Given the description of an element on the screen output the (x, y) to click on. 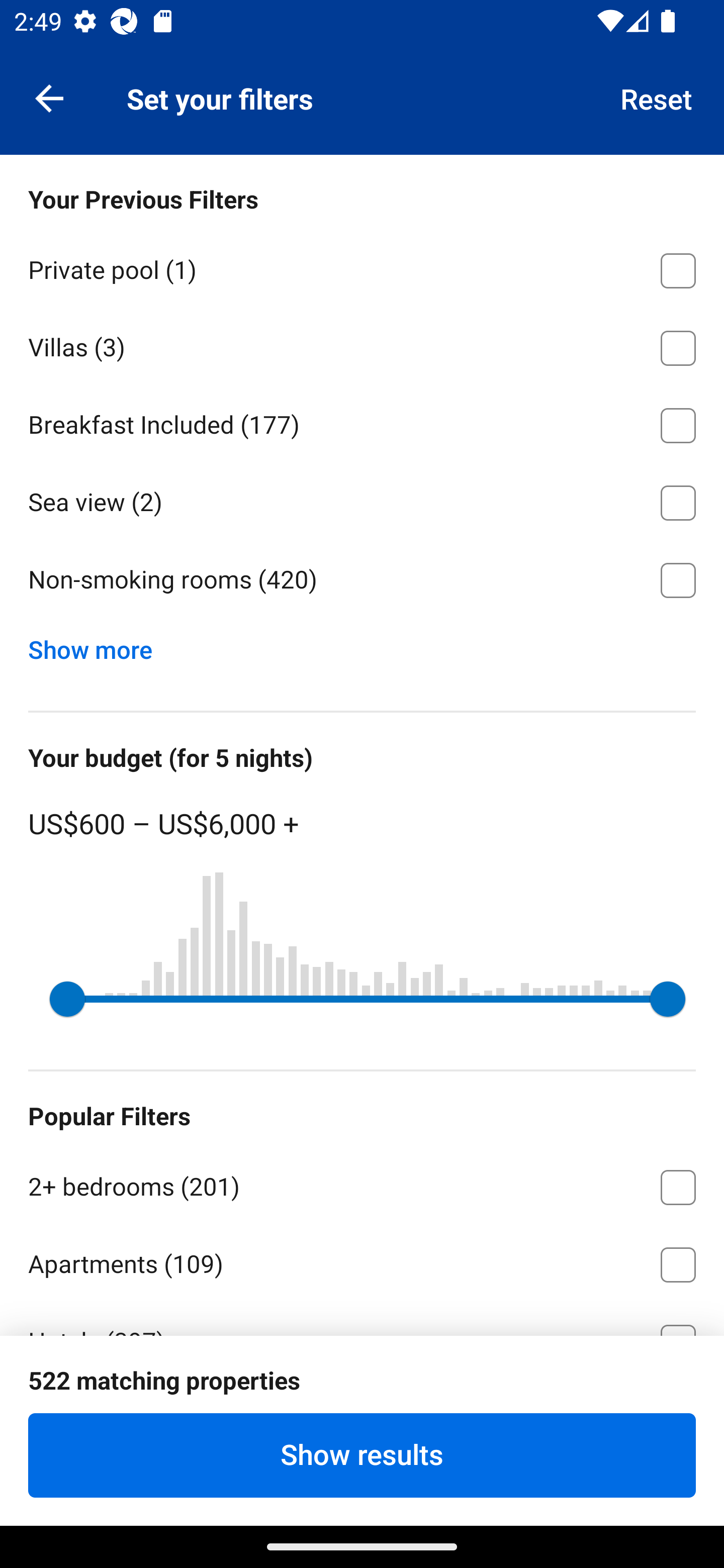
Navigate up (49, 97)
Reset (656, 97)
Private pool ⁦(1) (361, 266)
Villas ⁦(3) (361, 344)
Breakfast Included ⁦(177) (361, 422)
Sea view ⁦(2) (361, 498)
Non-smoking rooms ⁦(420) (361, 579)
Show more (97, 645)
2+ bedrooms ⁦(201) (361, 1183)
Apartments ⁦(109) (361, 1261)
Show results (361, 1454)
